Given the description of an element on the screen output the (x, y) to click on. 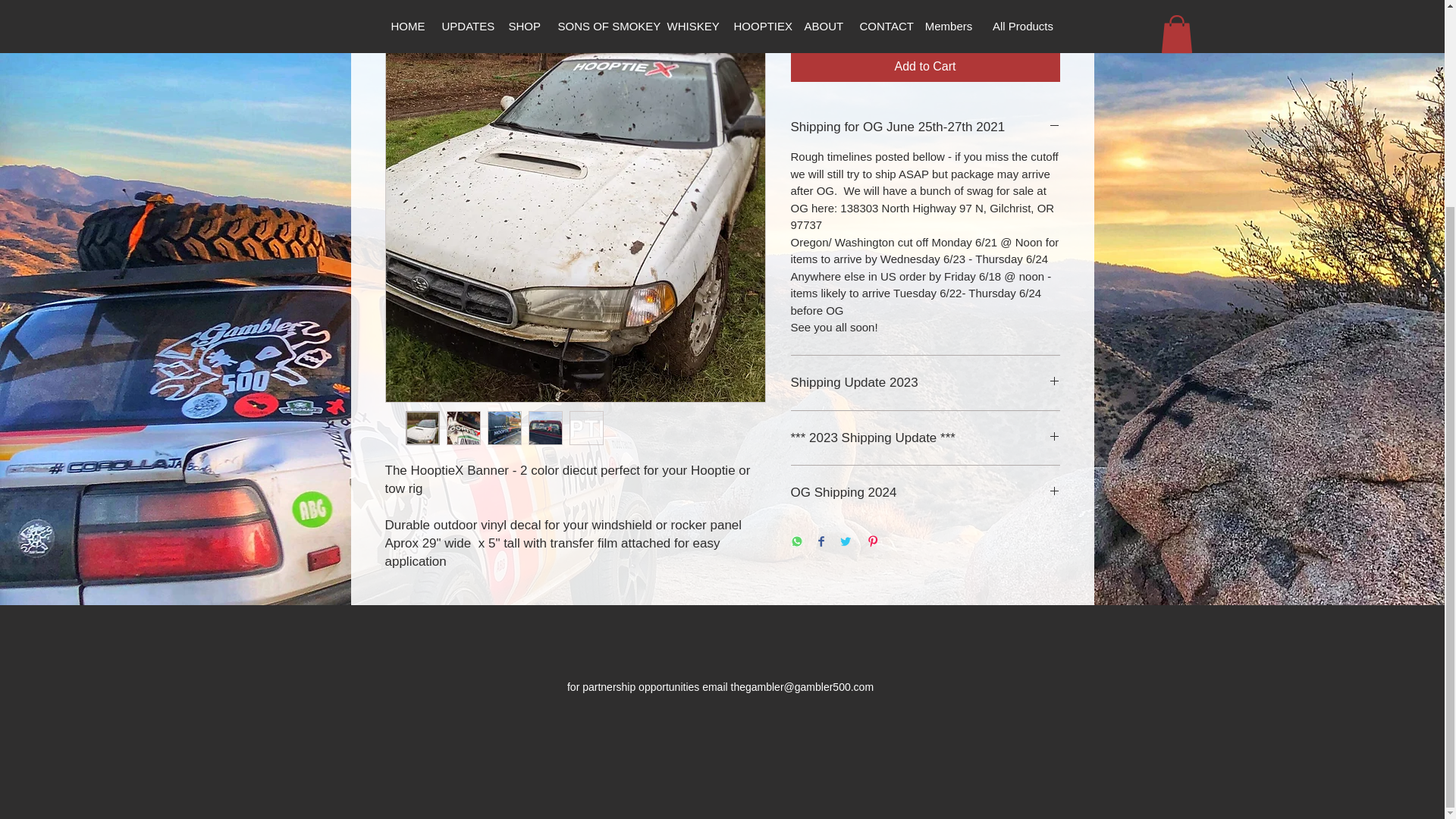
OG Shipping 2024 (924, 493)
Shipping for OG June 25th-27th 2021 (924, 126)
1 (818, 13)
Add to Cart (924, 66)
Shipping Update 2023 (924, 382)
